Given the description of an element on the screen output the (x, y) to click on. 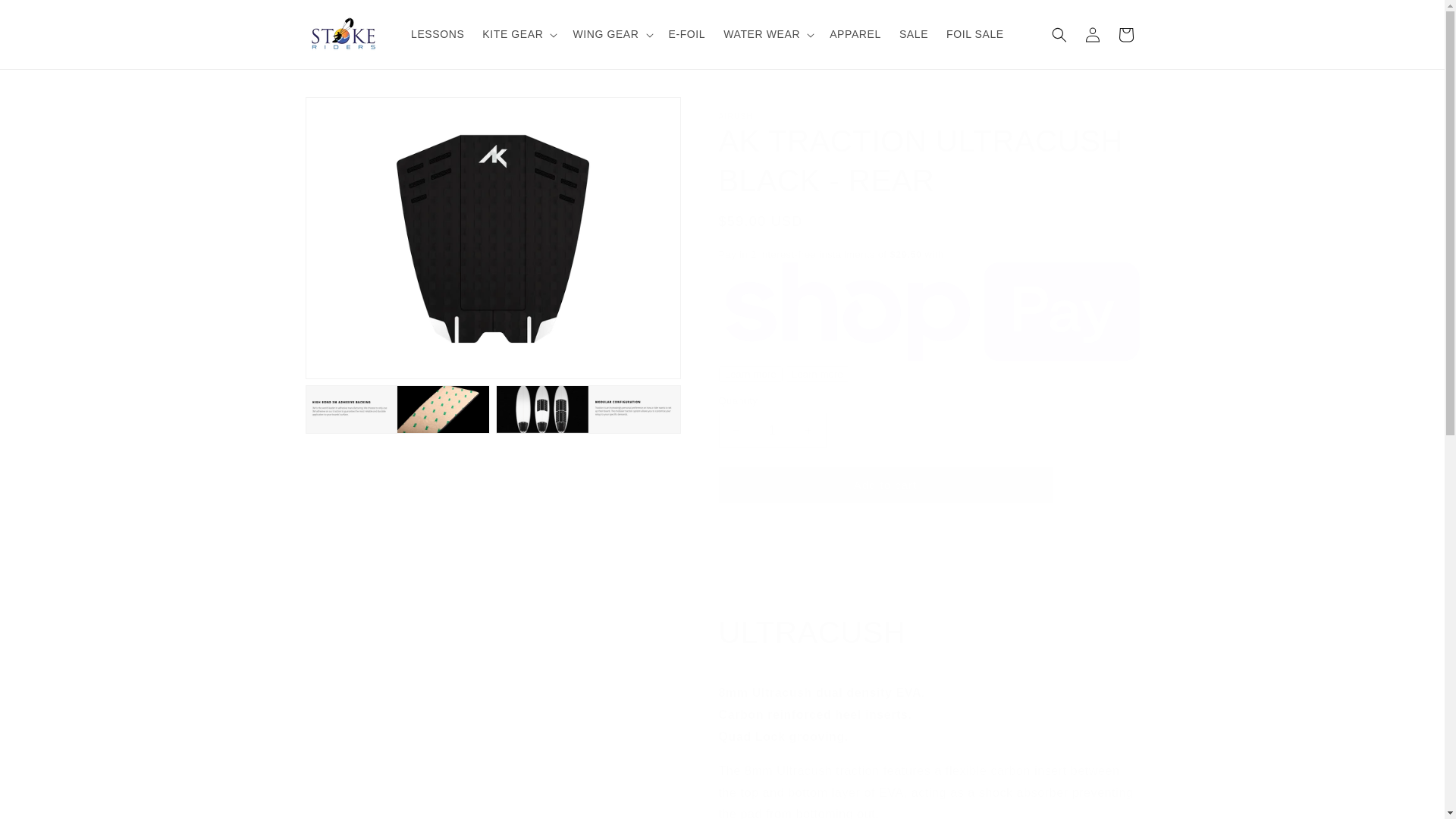
1 (773, 429)
Skip to content (45, 17)
Open media 3 in modal (588, 409)
Open media 2 in modal (396, 409)
Open media 1 in modal (491, 238)
LESSONS (437, 33)
